Given the description of an element on the screen output the (x, y) to click on. 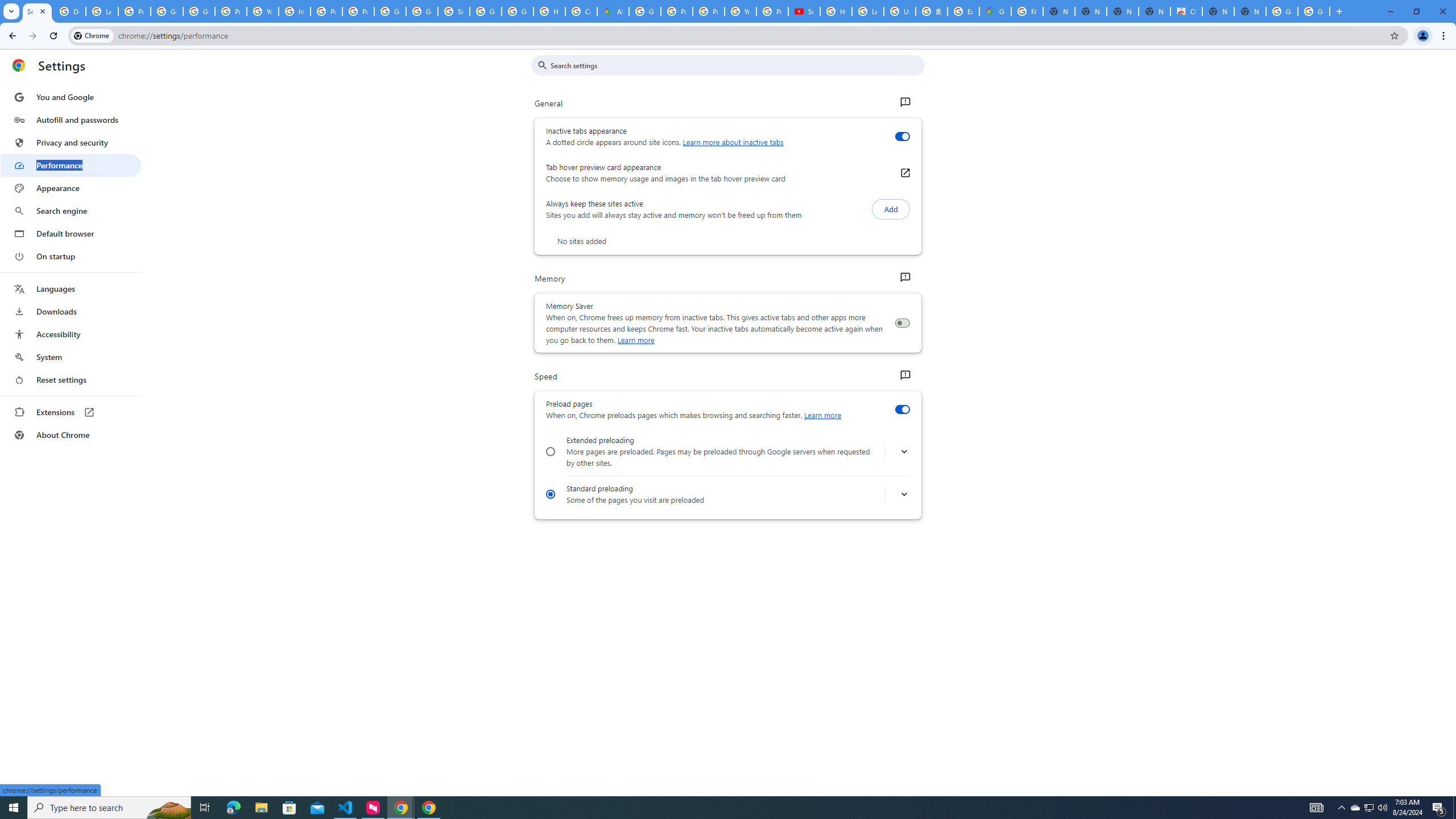
About Chrome (70, 434)
Search engine (70, 210)
Preload pages (901, 409)
General (904, 102)
Privacy and security (70, 142)
Inactive tabs appearance (901, 136)
On startup (70, 255)
AutomationID: menu (71, 265)
